Given the description of an element on the screen output the (x, y) to click on. 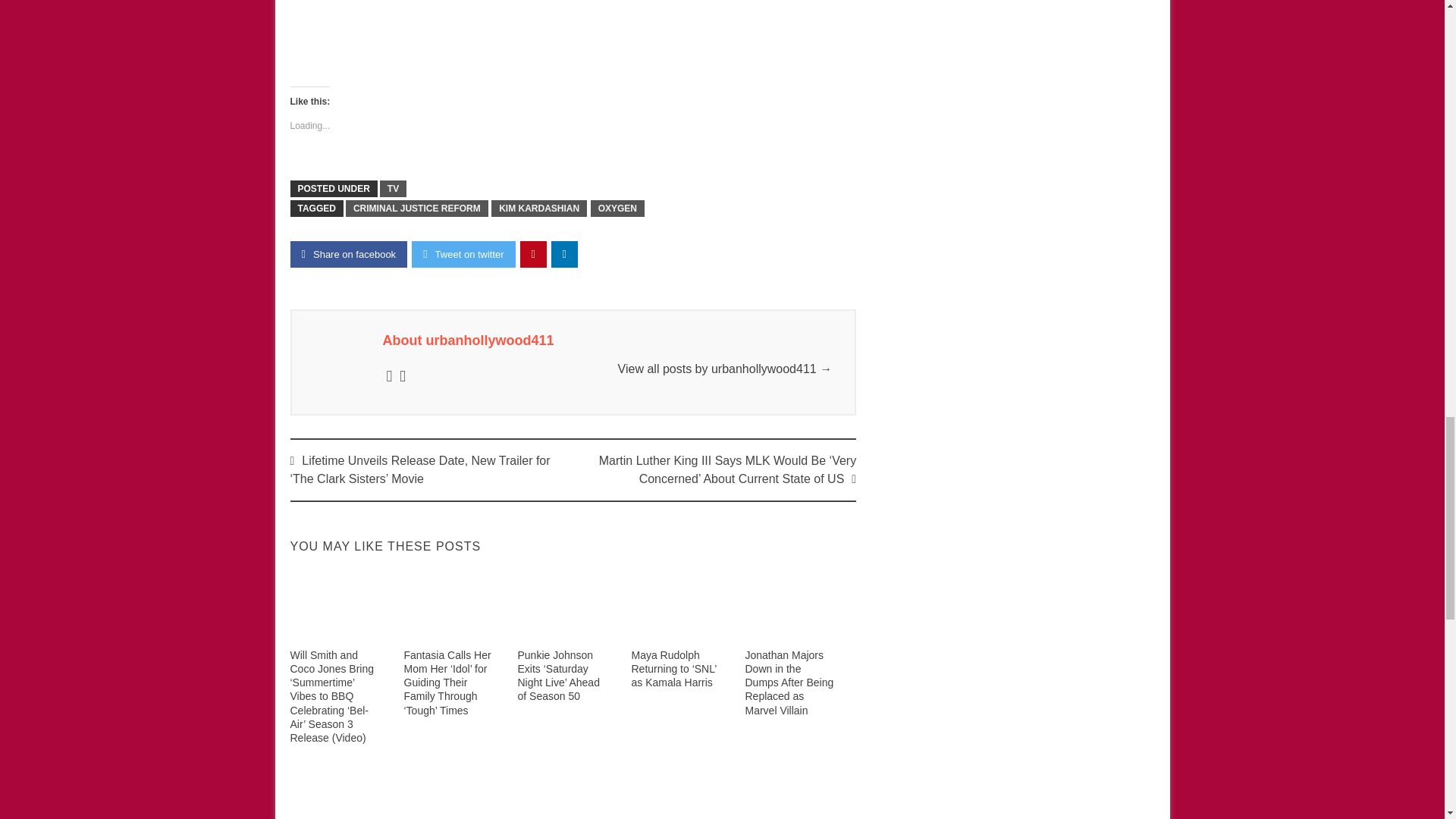
Tweet on twitter (463, 253)
TV (393, 188)
OXYGEN (618, 208)
KIM KARDASHIAN (539, 208)
Share on facebook (348, 253)
CRIMINAL JUSTICE REFORM (416, 208)
